Given the description of an element on the screen output the (x, y) to click on. 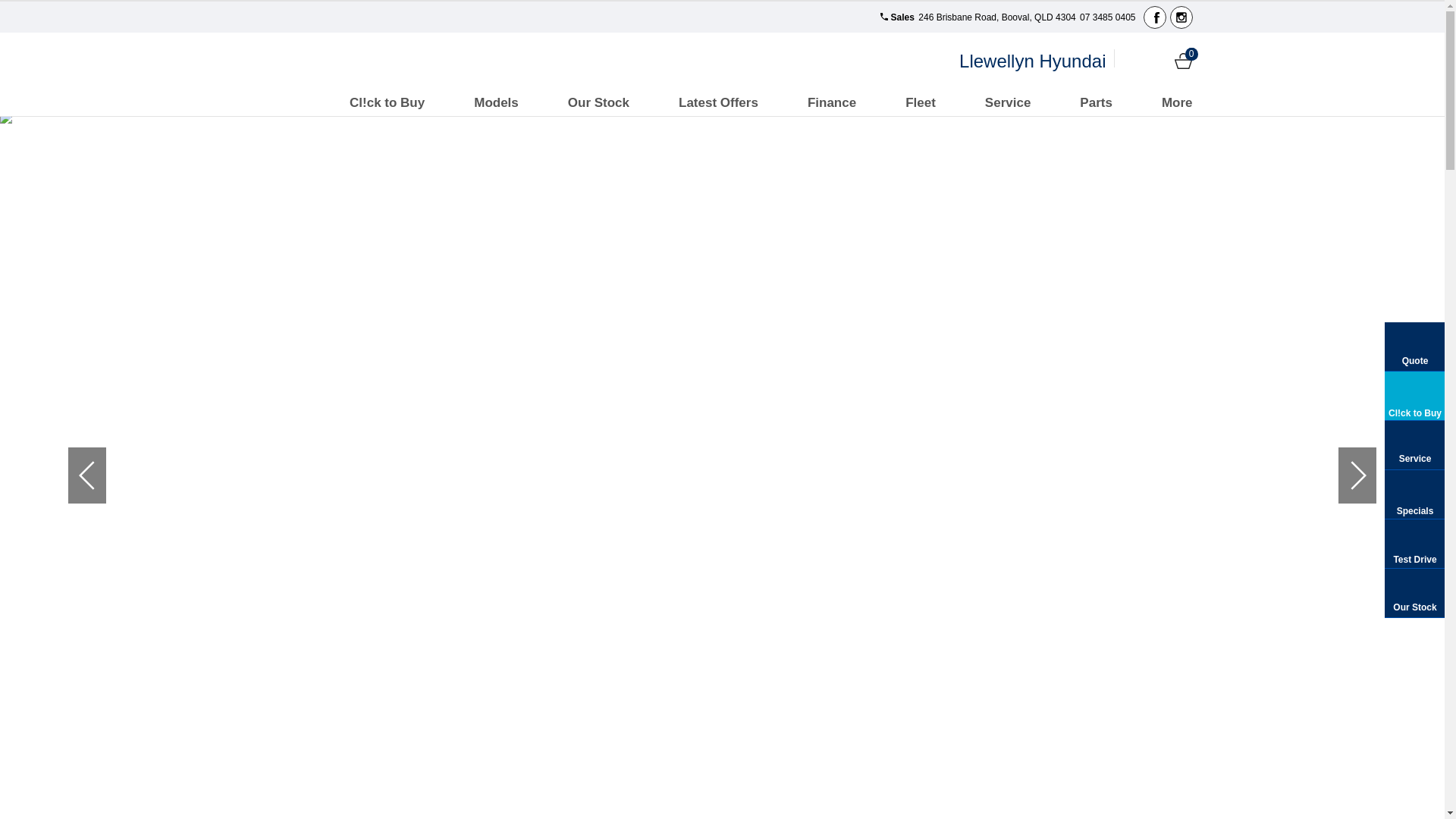
Latest Offers Element type: text (718, 102)
07 3485 0405 Element type: text (1106, 17)
Facebook Element type: hover (1154, 17)
Hyundai Motor Company Element type: text (313, 60)
More Element type: text (1176, 102)
Cl!ck to Buy Element type: text (386, 102)
Cart
0 Element type: text (1182, 61)
Signup Element type: text (1157, 60)
Our Stock Element type: text (598, 102)
Sales Element type: text (894, 17)
Finance Element type: text (831, 102)
Login Element type: text (1131, 60)
Instagram Element type: hover (1180, 17)
Models Element type: text (495, 102)
246 Brisbane Road, Booval, QLD 4304 Element type: text (995, 17)
Fleet Element type: text (920, 102)
Parts Element type: text (1095, 102)
Service Element type: text (1008, 102)
